Given the description of an element on the screen output the (x, y) to click on. 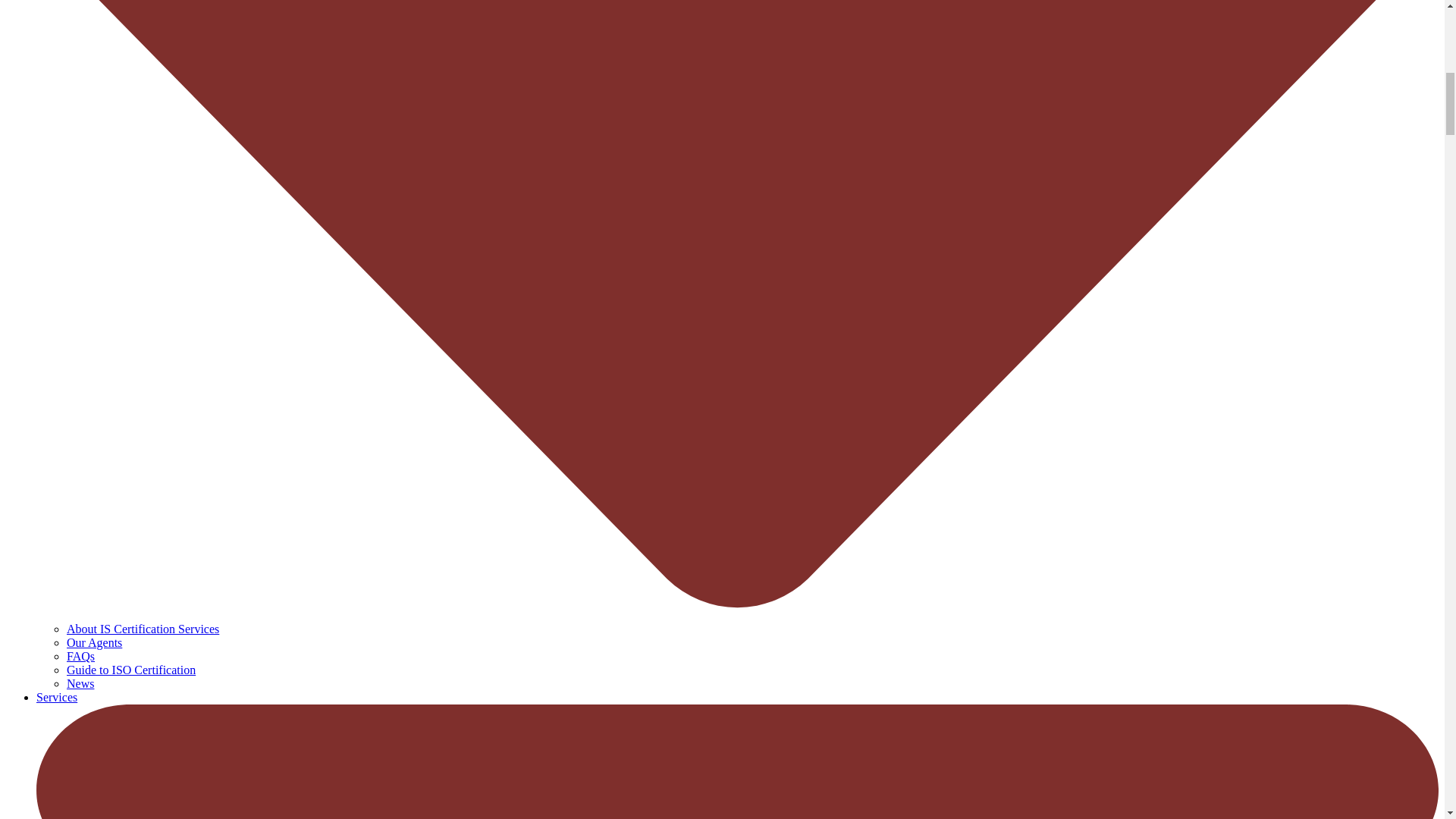
FAQs (80, 656)
Guide to ISO Certification (130, 669)
News (80, 683)
About IS Certification Services (142, 628)
Services (56, 697)
Our Agents (94, 642)
